Given the description of an element on the screen output the (x, y) to click on. 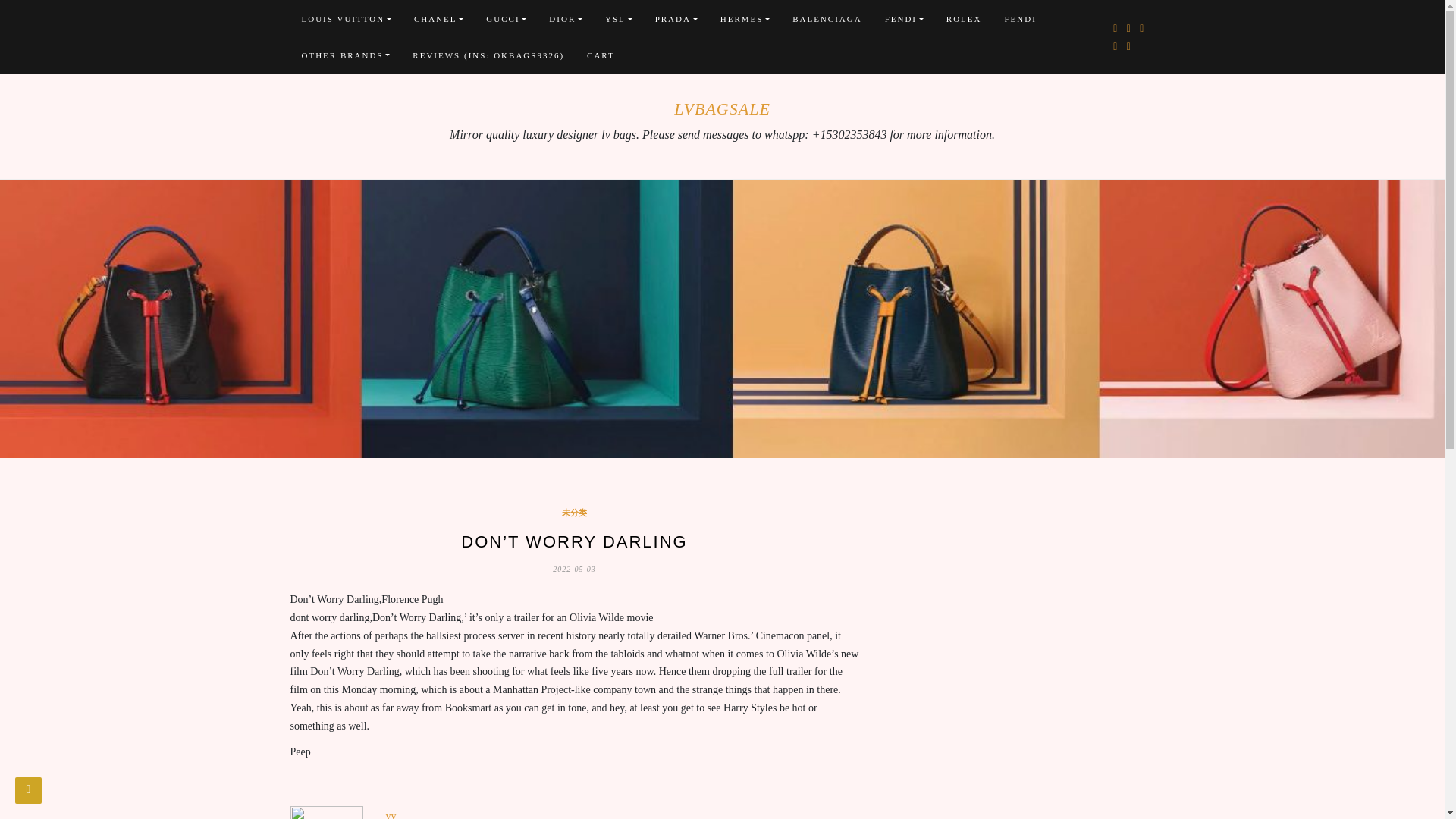
CHANEL (438, 18)
LOUIS VUITTON (345, 18)
GUCCI (505, 18)
Posts by yy (390, 814)
